Given the description of an element on the screen output the (x, y) to click on. 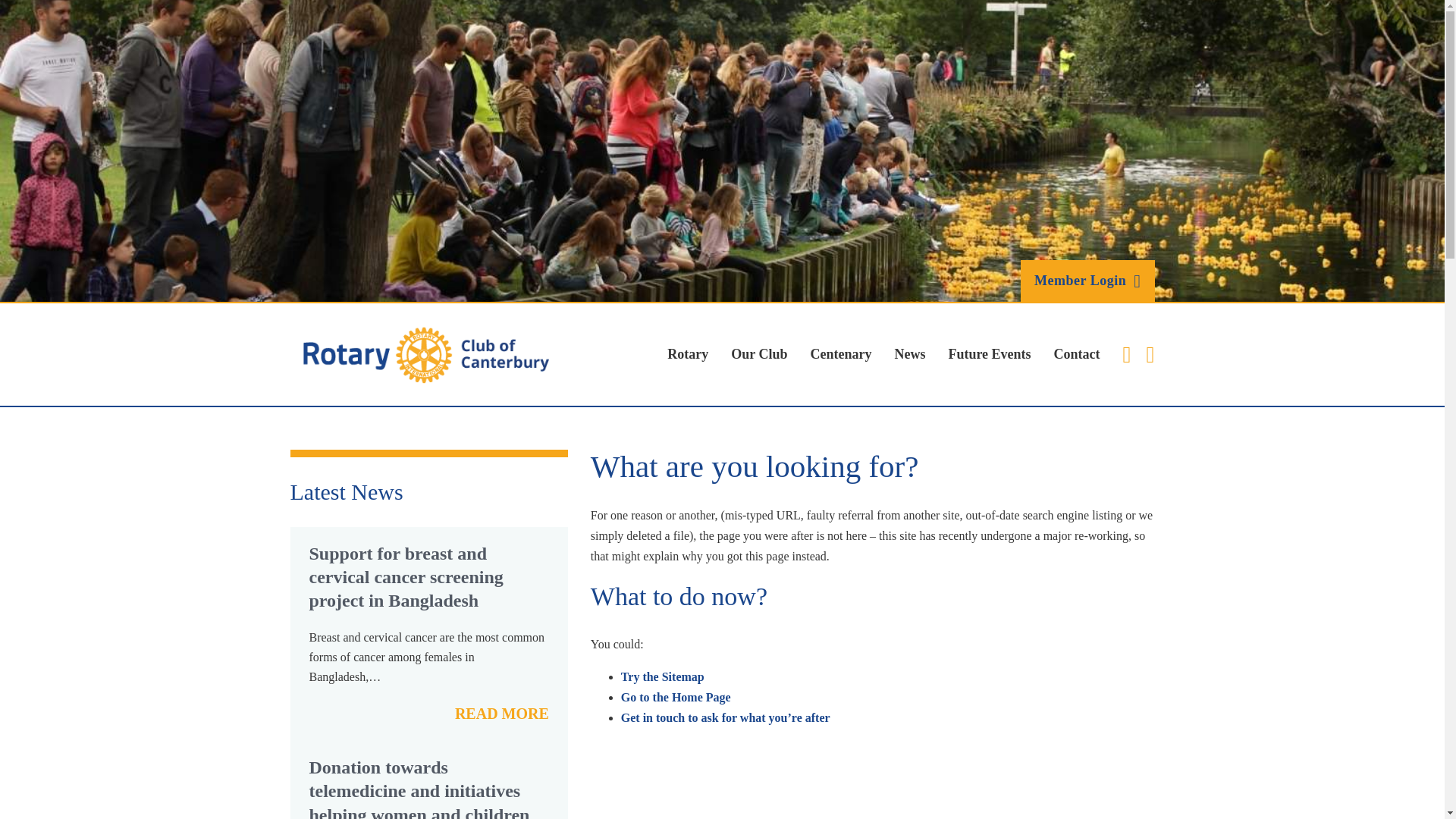
Member Login (1087, 281)
READ MORE (501, 713)
Contact (1077, 354)
Contact (725, 717)
Future Events (988, 354)
Sitemap (662, 676)
News (908, 354)
Go to the Home Page (675, 697)
